Given the description of an element on the screen output the (x, y) to click on. 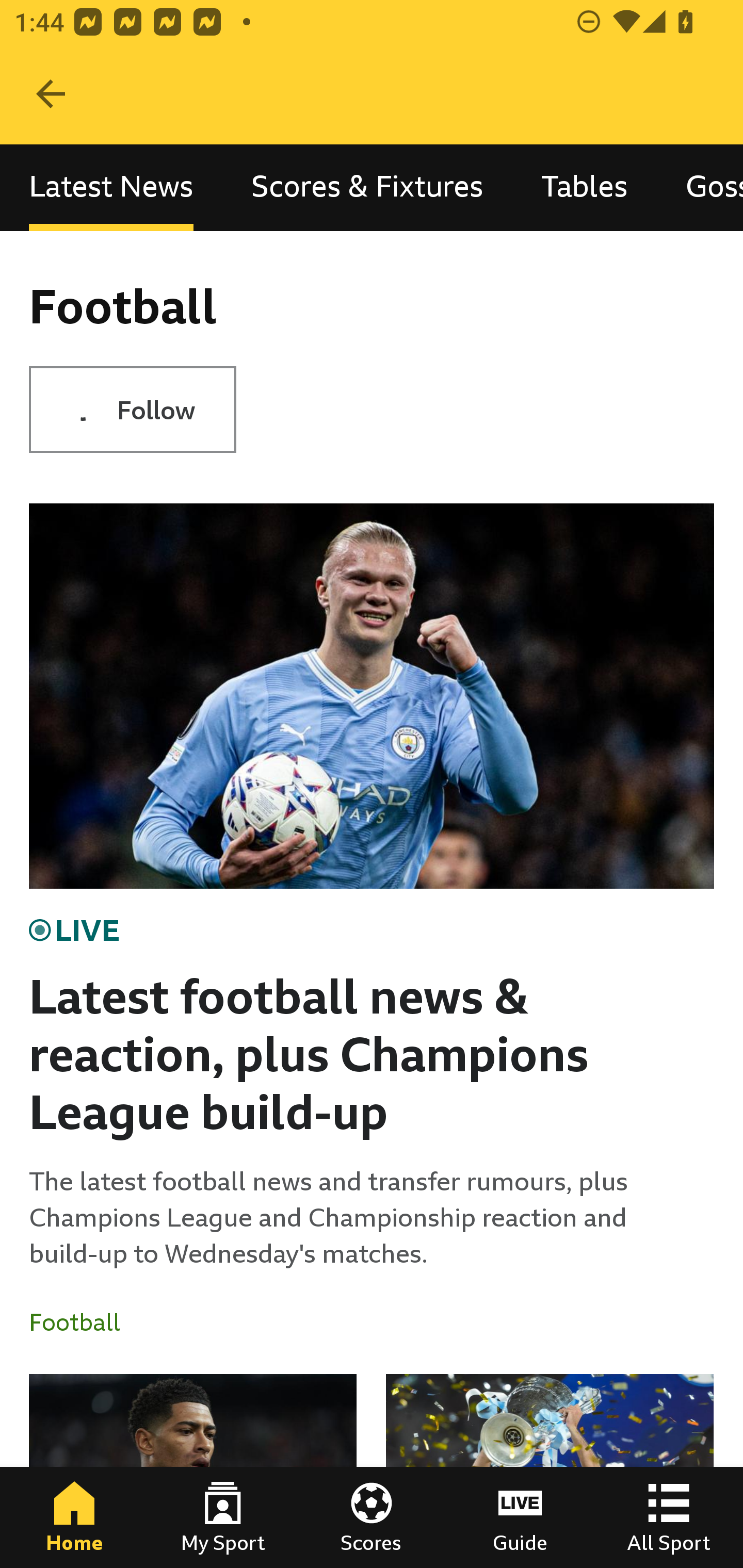
Navigate up (50, 93)
Latest News, selected Latest News (111, 187)
Scores & Fixtures (367, 187)
Tables (584, 187)
My Sport (222, 1517)
Scores (371, 1517)
Guide (519, 1517)
All Sport (668, 1517)
